Given the description of an element on the screen output the (x, y) to click on. 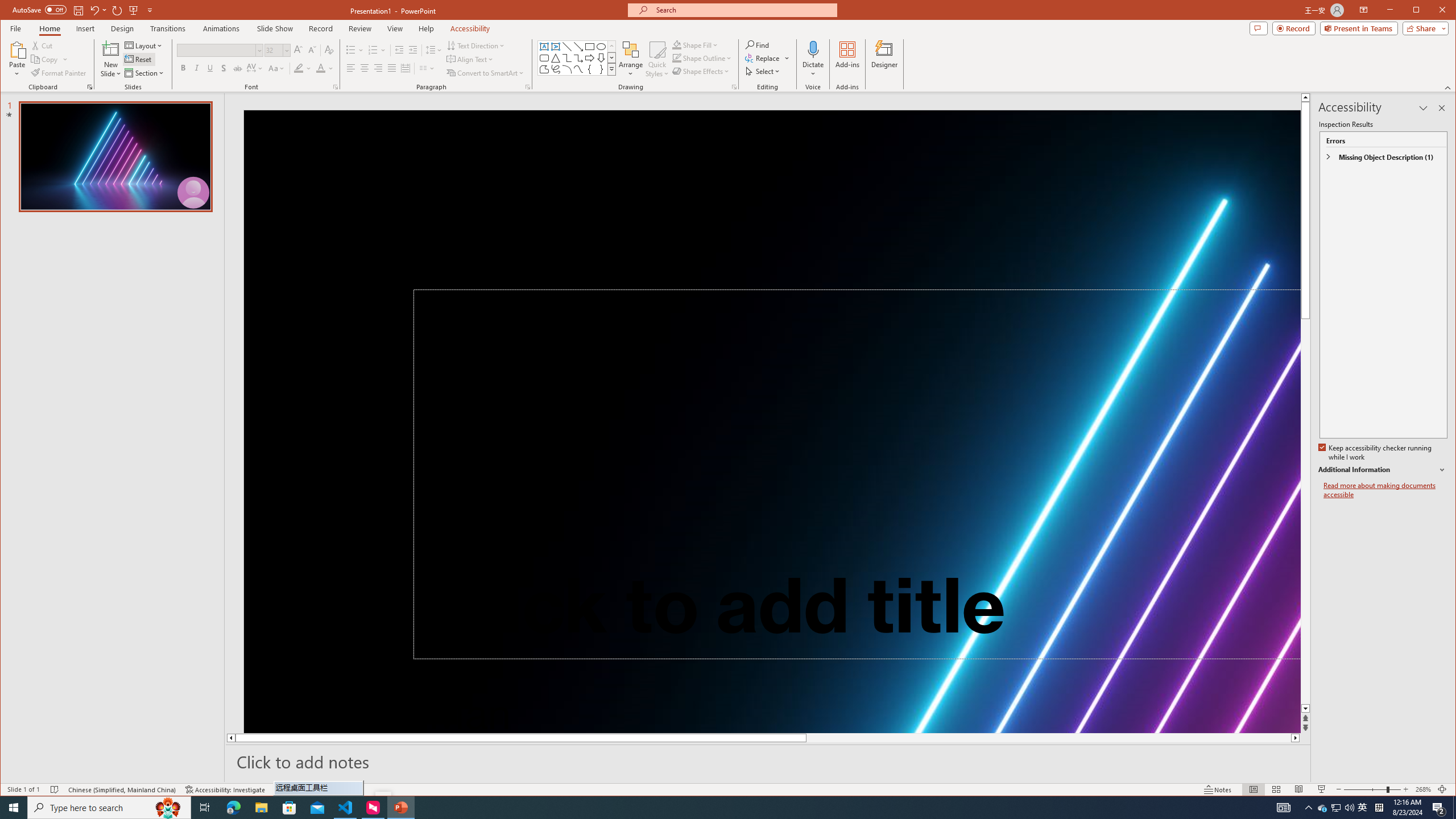
Increase Font Size (297, 49)
Justify (391, 68)
Decrease Font Size (311, 49)
Rectangle (589, 46)
Maximize (1432, 11)
Open (285, 50)
Read more about making documents accessible (1385, 489)
